Given the description of an element on the screen output the (x, y) to click on. 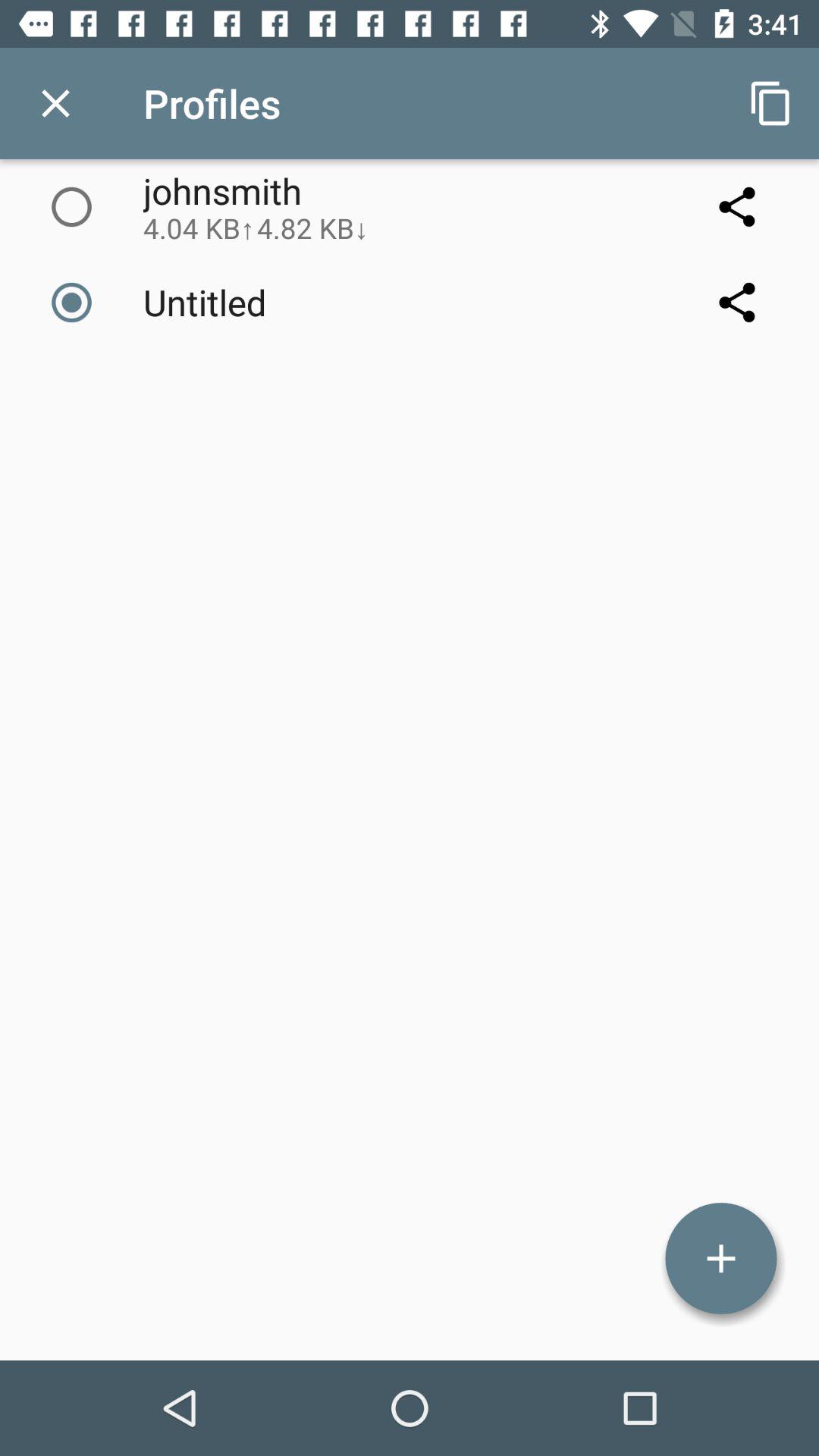
advertisement (721, 1258)
